Given the description of an element on the screen output the (x, y) to click on. 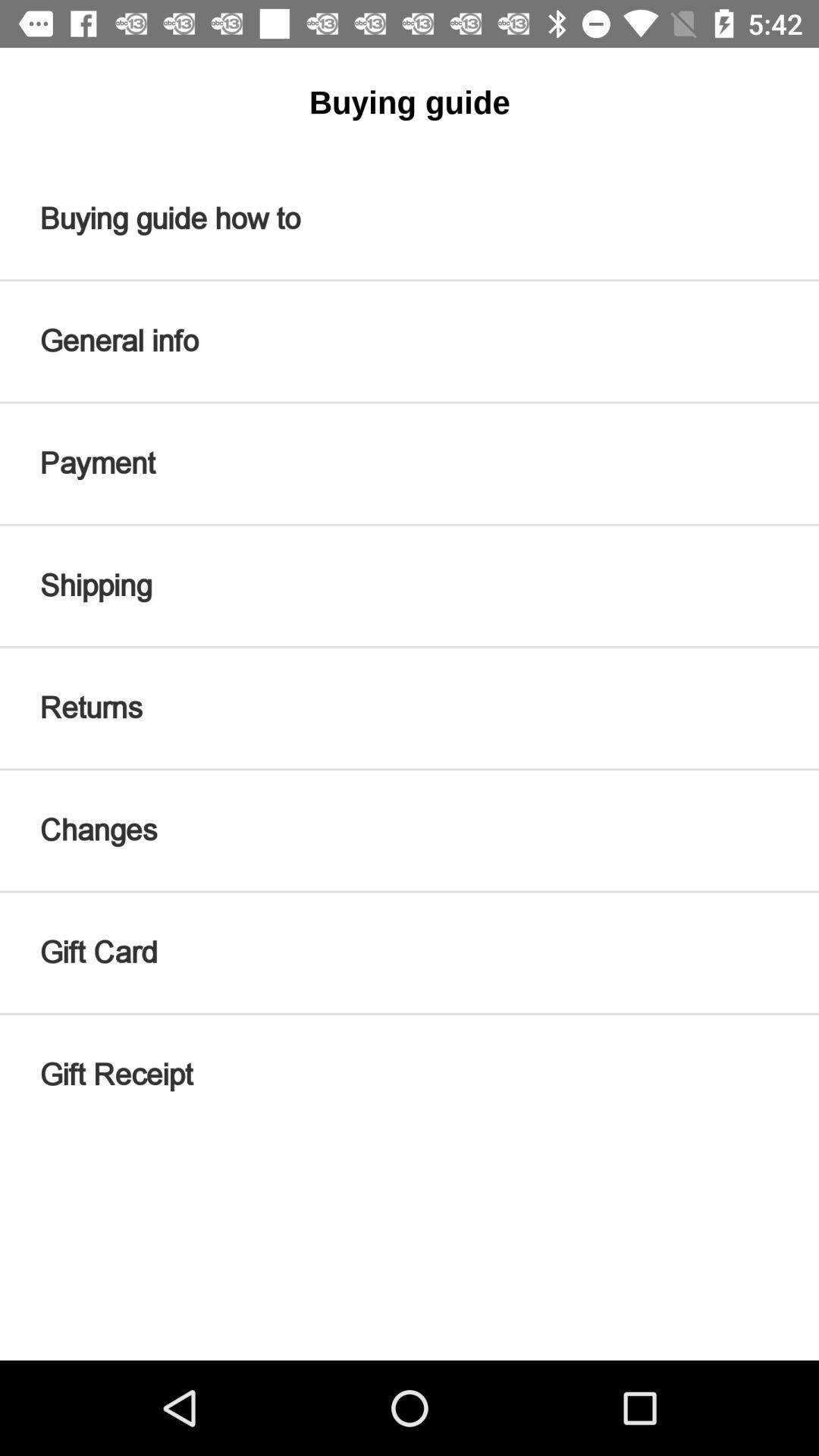
choose item below payment icon (409, 586)
